Given the description of an element on the screen output the (x, y) to click on. 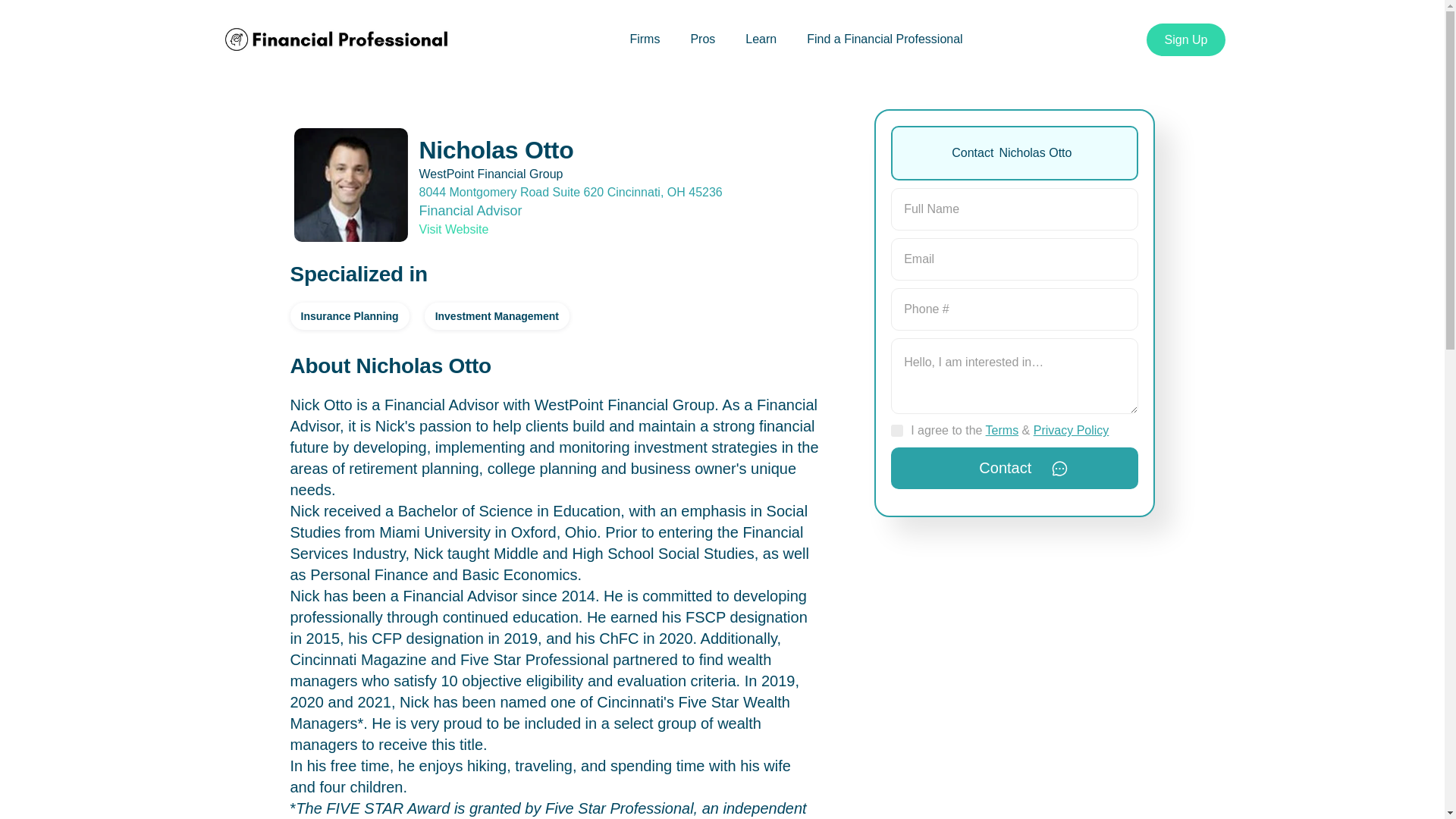
Sign Up (1186, 38)
Find a Financial Professional (884, 39)
Contact (1014, 467)
Terms (1002, 430)
Contact (1014, 467)
Firms (644, 39)
Learn (761, 39)
Privacy Policy (1071, 430)
Visit Website (453, 228)
Insurance Planning (349, 316)
Pros (702, 39)
Investment Management (497, 316)
